Given the description of an element on the screen output the (x, y) to click on. 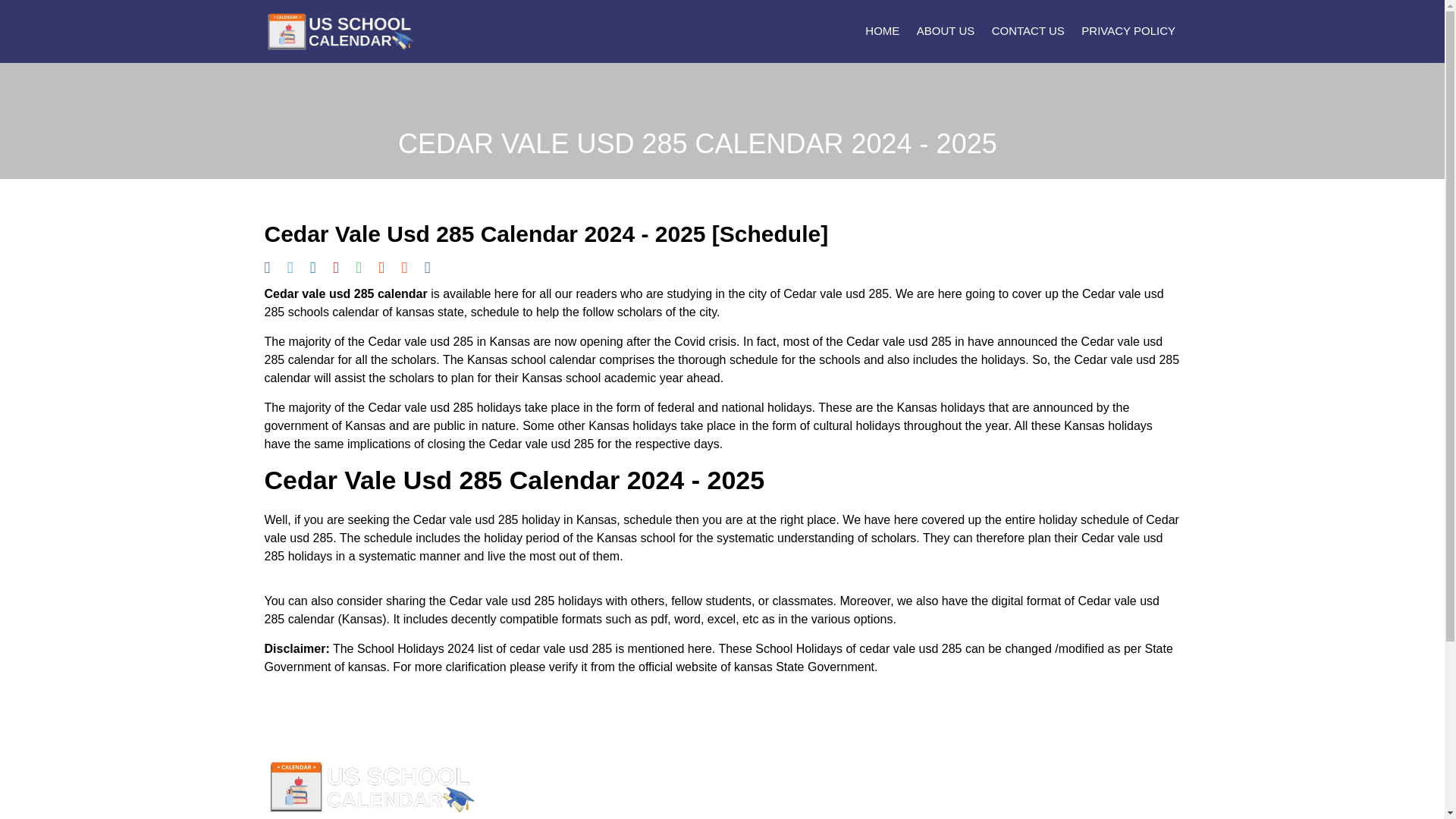
PRIVACY POLICY (1125, 31)
ABOUT US (942, 31)
HOME (879, 31)
CONTACT US (1024, 31)
